Given the description of an element on the screen output the (x, y) to click on. 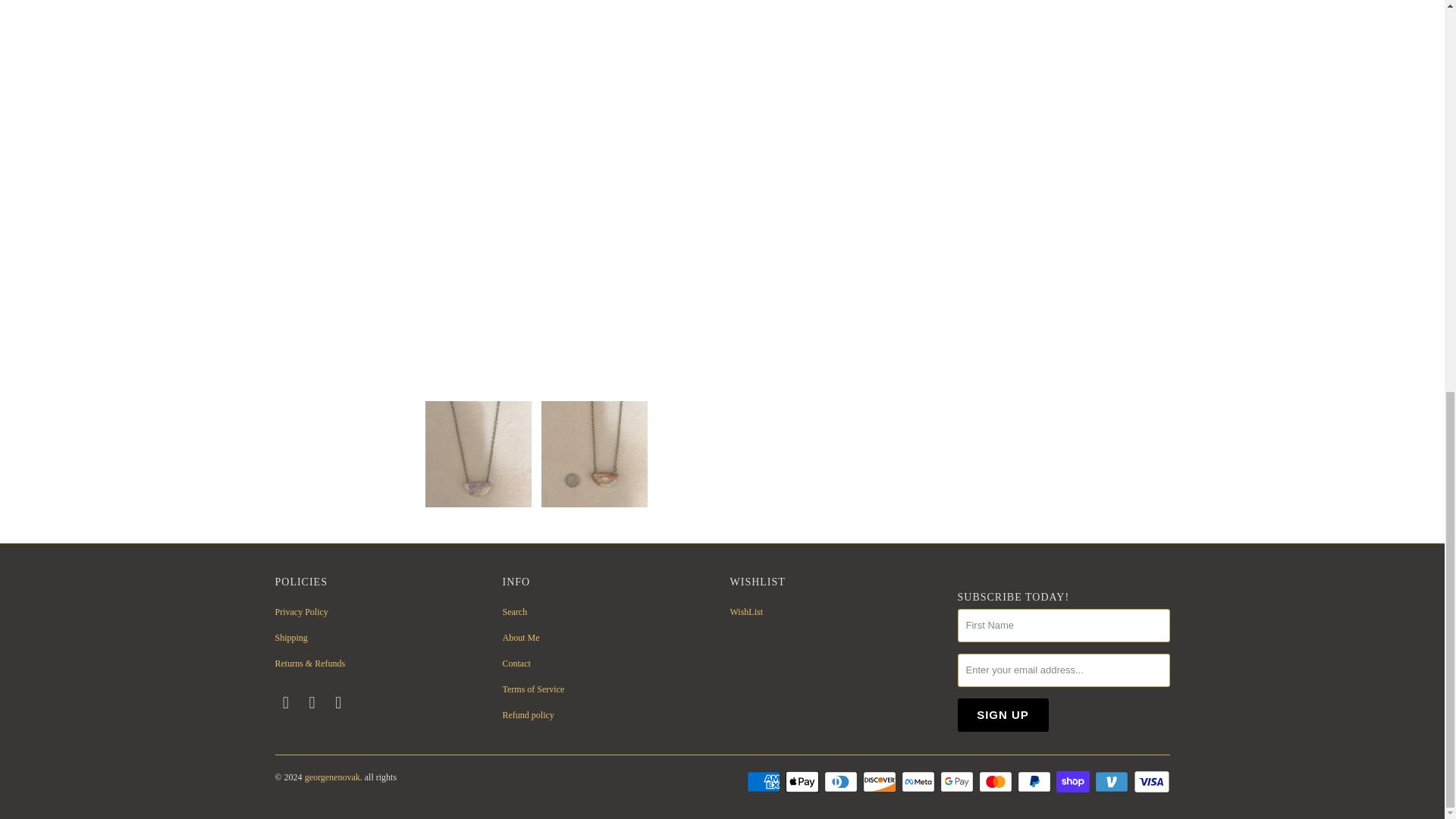
Email georgenenovak (338, 702)
Apple Pay (804, 781)
Mastercard (996, 781)
American Express (764, 781)
Google Pay (958, 781)
Shop Pay (1073, 781)
PayPal (1035, 781)
Discover (881, 781)
georgenenovak on Instagram (312, 702)
georgenenovak on Facebook (286, 702)
Meta Pay (919, 781)
Diners Club (842, 781)
Sign Up (1002, 715)
Venmo (1112, 781)
Visa (1150, 781)
